Given the description of an element on the screen output the (x, y) to click on. 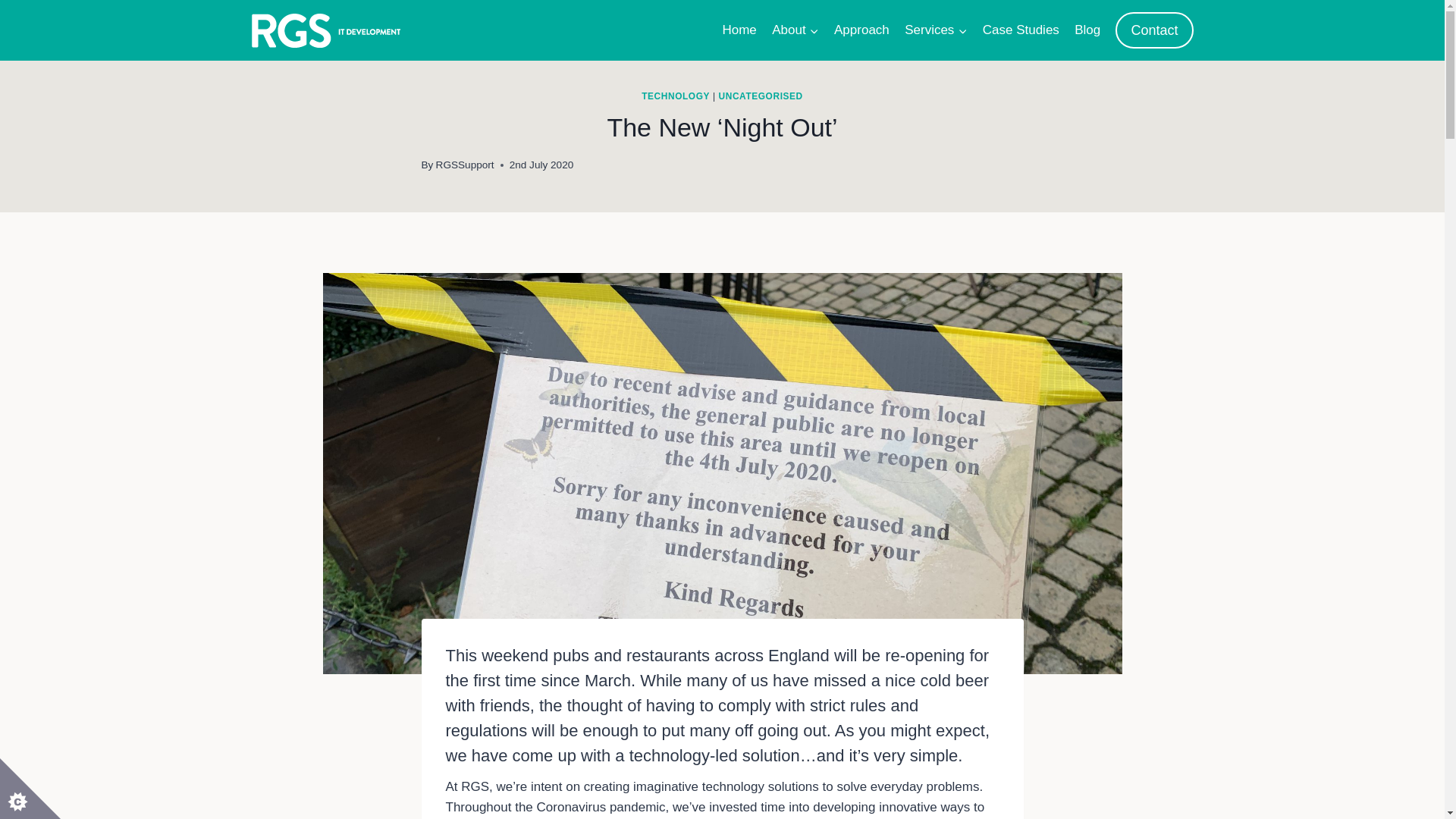
Case Studies (1021, 30)
Cookie Control Icon (30, 788)
UNCATEGORISED (761, 95)
Home (739, 30)
Approach (861, 30)
RGSSupport (465, 164)
TECHNOLOGY (676, 95)
Blog (1087, 30)
Contact (1153, 29)
Services (935, 30)
About (795, 30)
